Given the description of an element on the screen output the (x, y) to click on. 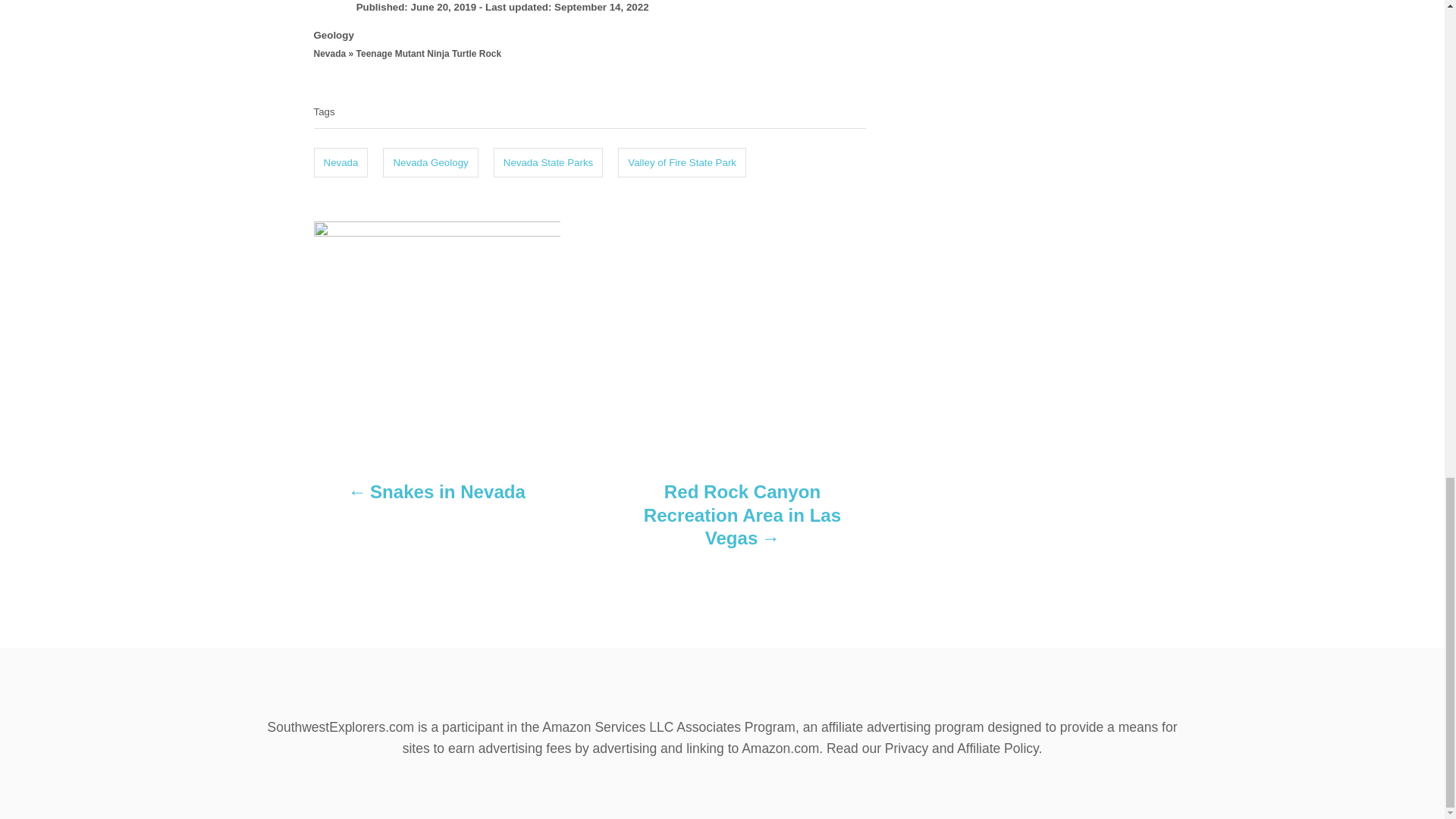
Nevada (341, 163)
Valley of Fire State Park (681, 163)
Nevada State Parks (548, 163)
Nevada Geology (429, 163)
Nevada (330, 54)
Snakes in Nevada (437, 499)
Red Rock Canyon Recreation Area in Las Vegas (741, 522)
Geology (333, 34)
